Given the description of an element on the screen output the (x, y) to click on. 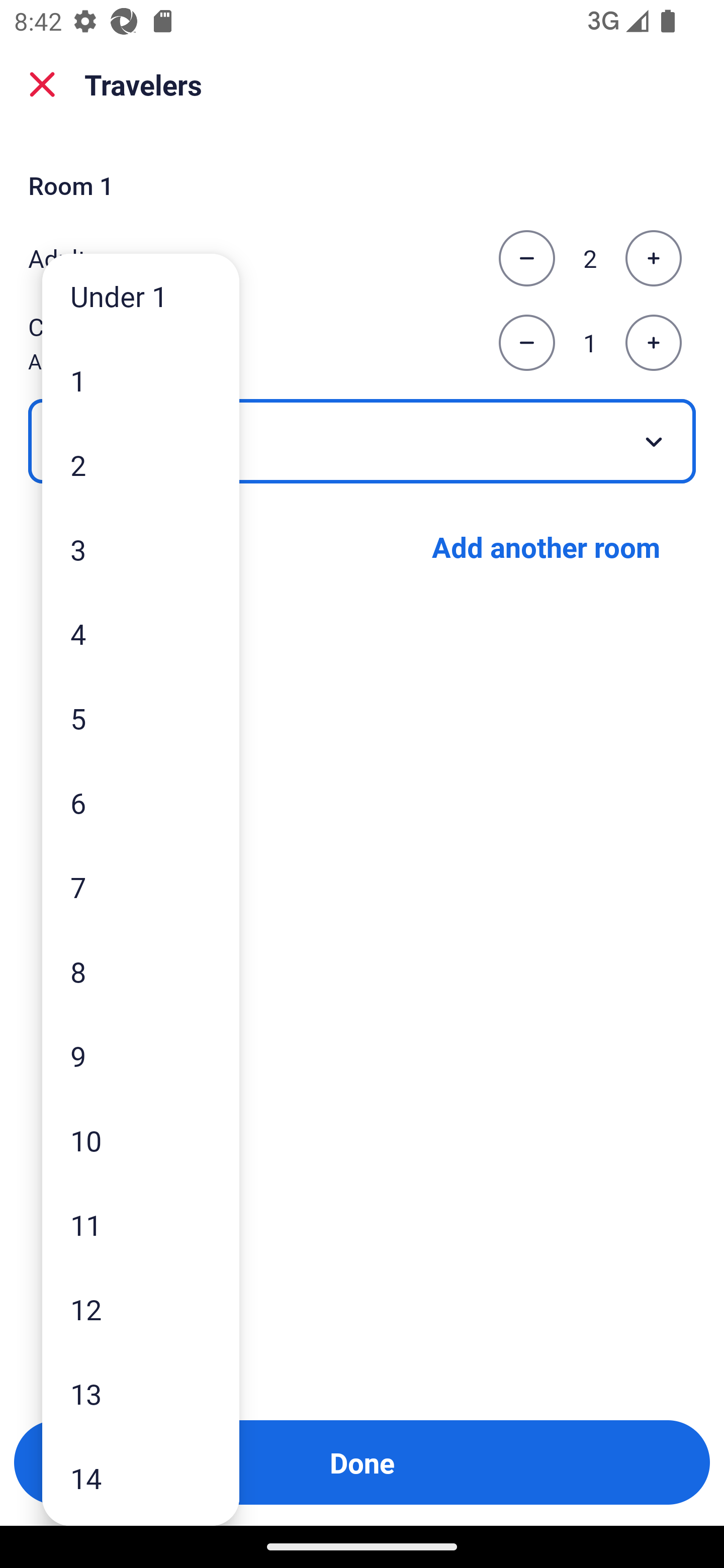
Under 1 (140, 296)
1 (140, 380)
2 (140, 464)
3 (140, 548)
4 (140, 633)
5 (140, 717)
6 (140, 802)
7 (140, 887)
8 (140, 970)
9 (140, 1054)
10 (140, 1139)
11 (140, 1224)
12 (140, 1308)
13 (140, 1393)
14 (140, 1478)
